Given the description of an element on the screen output the (x, y) to click on. 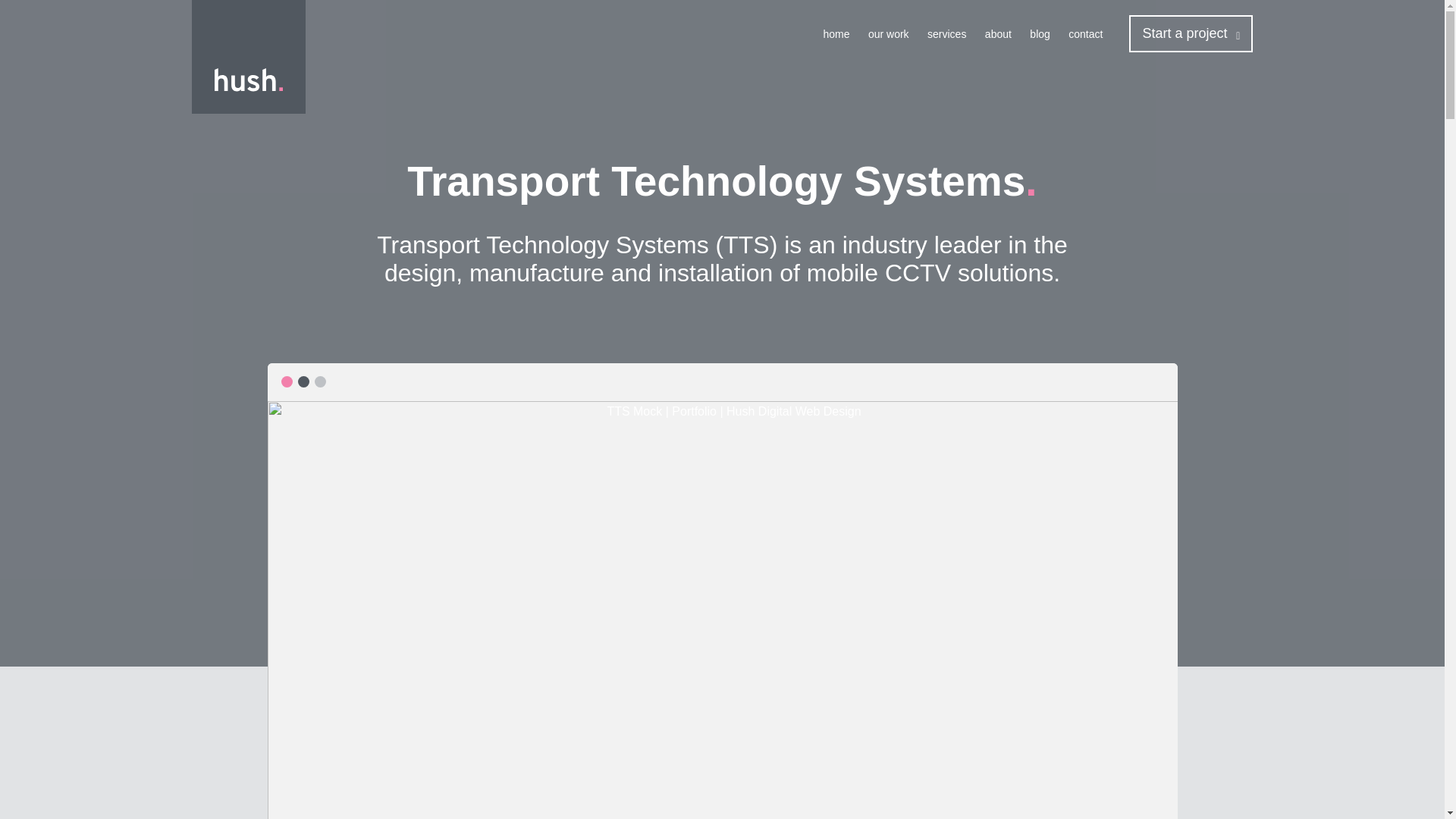
contact (1085, 33)
home (836, 33)
services (947, 33)
blog (1039, 33)
about (997, 33)
our work (888, 33)
